Given the description of an element on the screen output the (x, y) to click on. 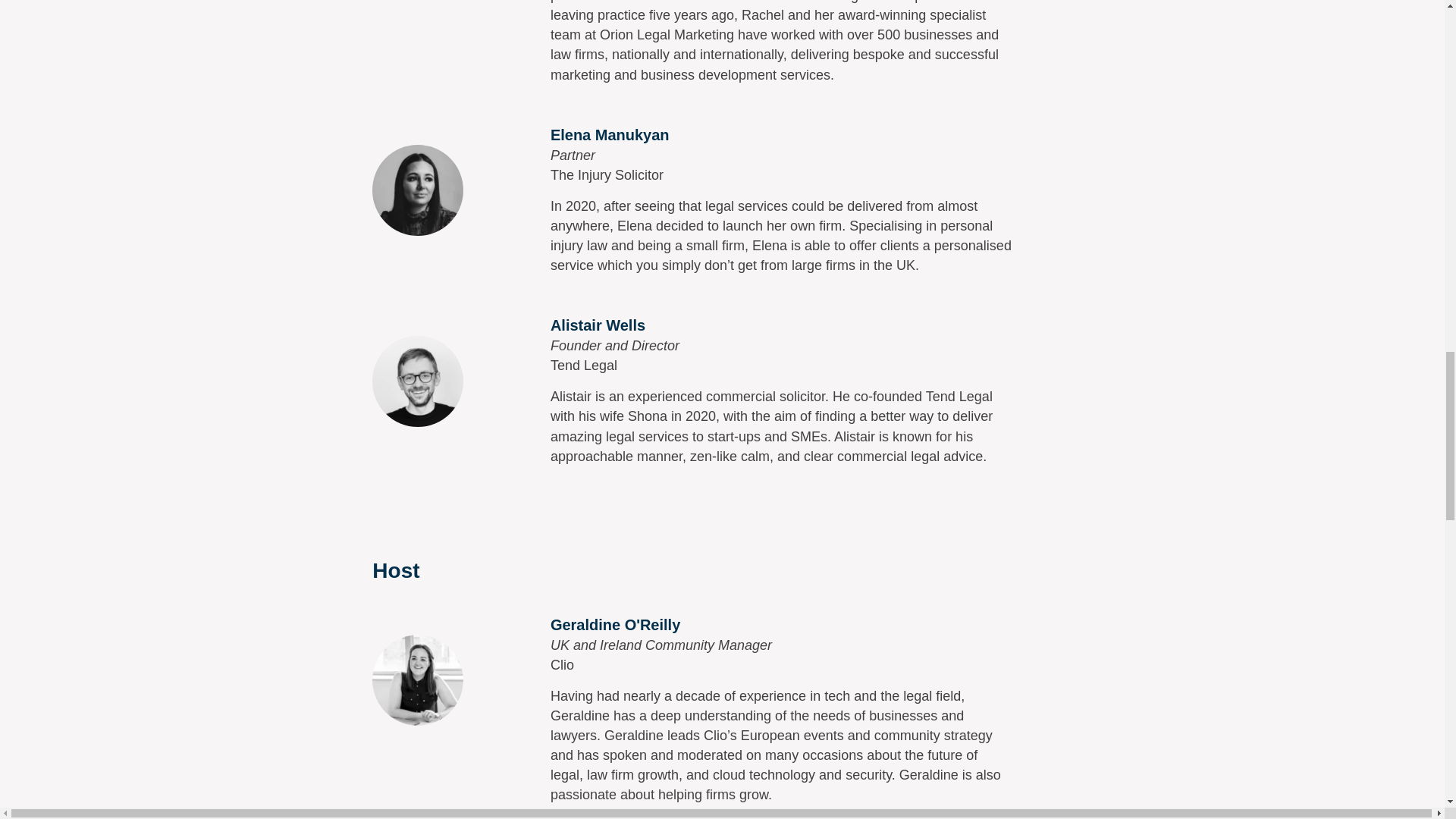
Speakers (417, 189)
Speakers (417, 380)
Host (417, 679)
